Given the description of an element on the screen output the (x, y) to click on. 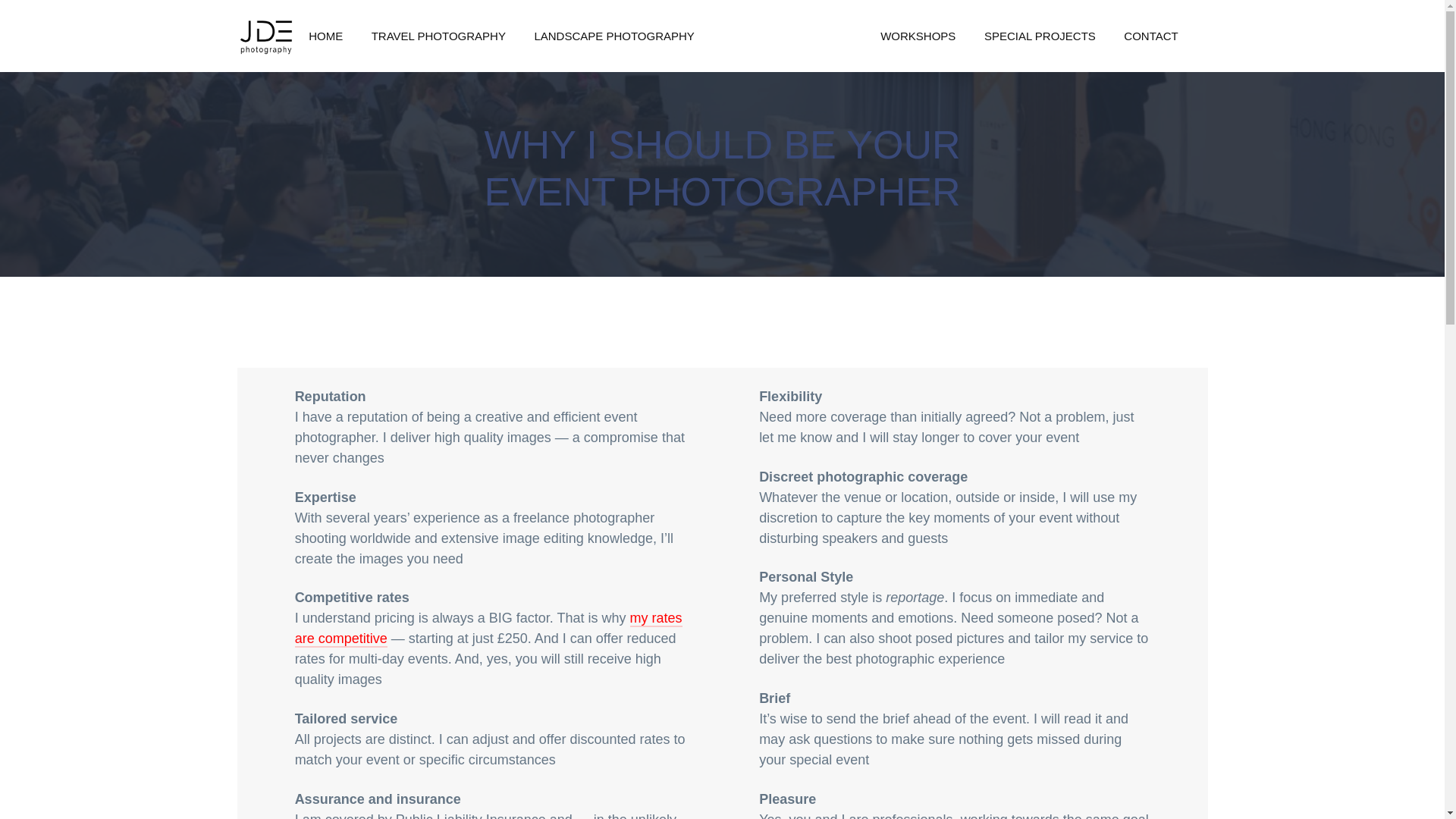
CONTACT (1150, 35)
WORKSHOPS (917, 35)
my rates are competitive (488, 628)
LANDSCAPE PHOTOGRAPHY (614, 35)
TRAVEL PHOTOGRAPHY (437, 35)
HOME (325, 35)
SPECIAL PROJECTS (1039, 35)
EVENT PHOTOGRAPHY (787, 35)
